Given the description of an element on the screen output the (x, y) to click on. 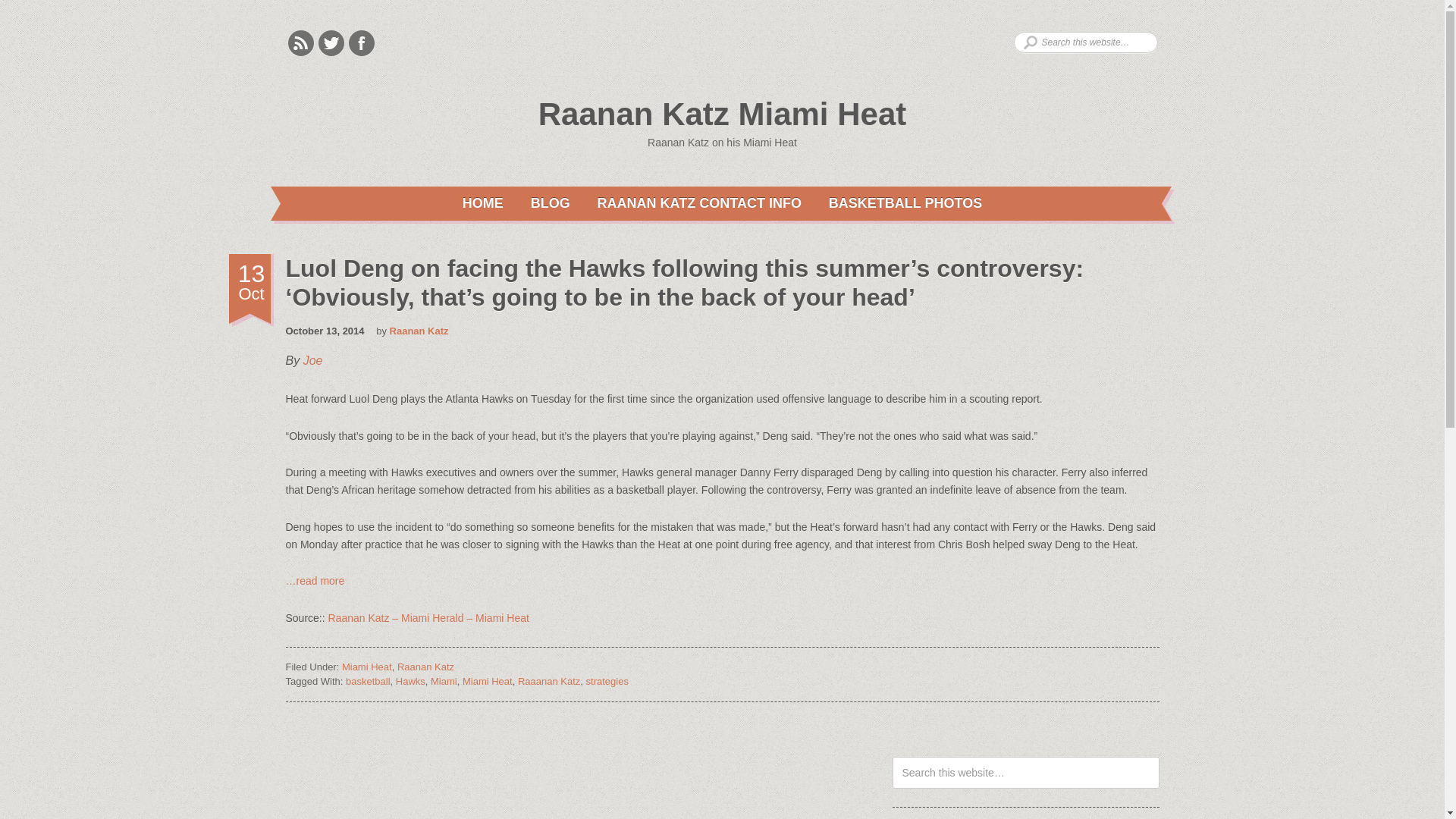
Raanan Katz Miami Heat (721, 113)
strategies (607, 681)
Twitter (330, 43)
Rss Feeds (301, 43)
RAANAN KATZ CONTACT INFO (699, 203)
Miami Heat (366, 666)
Rss Feeds (301, 43)
Miami (443, 681)
BLOG (550, 203)
basketball (368, 681)
Joe (312, 359)
